Given the description of an element on the screen output the (x, y) to click on. 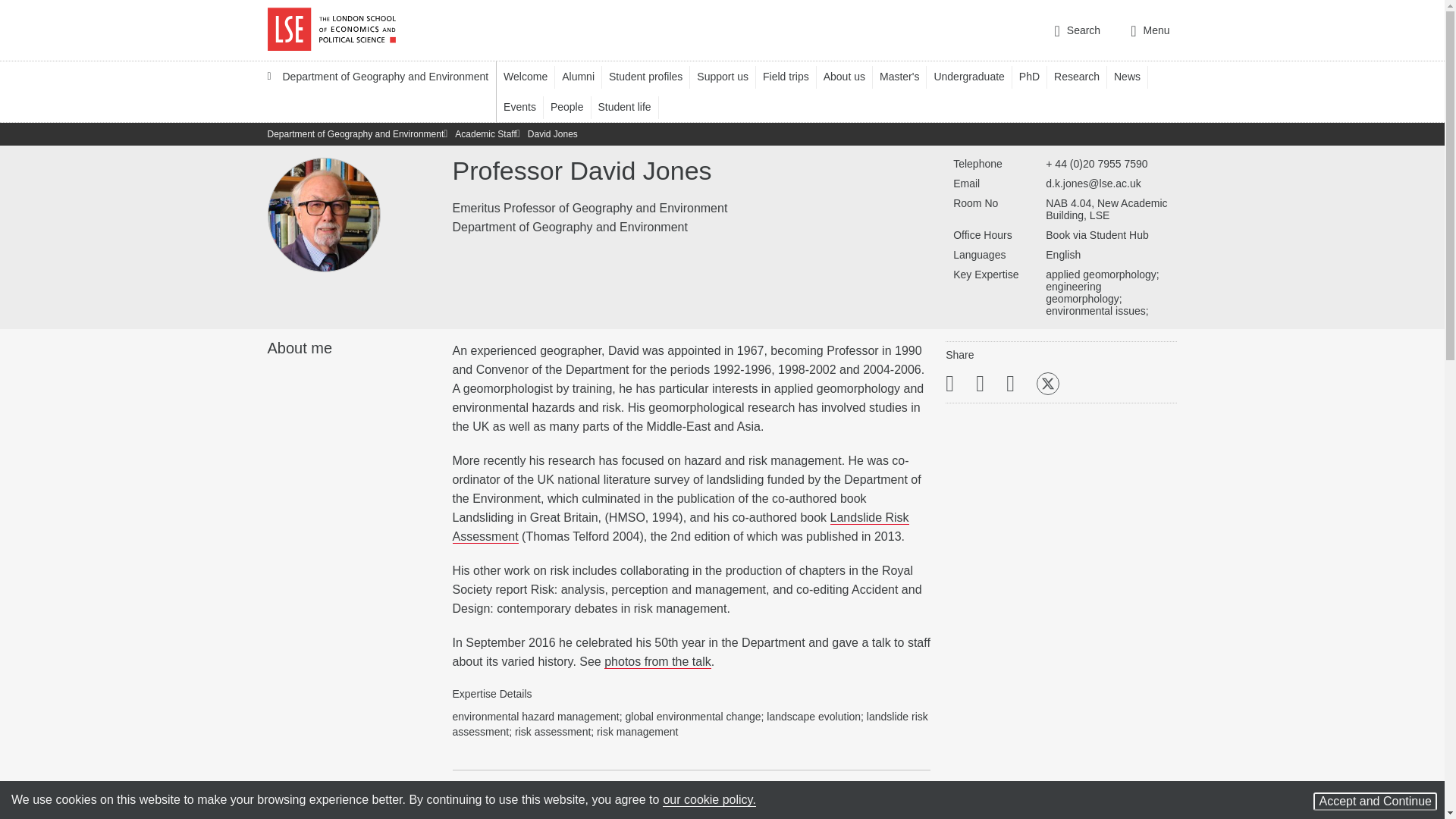
Undergraduate (975, 76)
Accept and Continue (1375, 801)
Support us (729, 76)
Events (526, 106)
London School of Economics and Political Science (330, 30)
Student Life in Geography and Environment (631, 106)
Events (526, 106)
Undergraduate programmes (975, 76)
People (574, 106)
Department of Geography and Environment (377, 91)
Menu (1150, 30)
our cookie policy. (708, 799)
Master's programmes (906, 76)
People (574, 106)
Master's (906, 76)
